Given the description of an element on the screen output the (x, y) to click on. 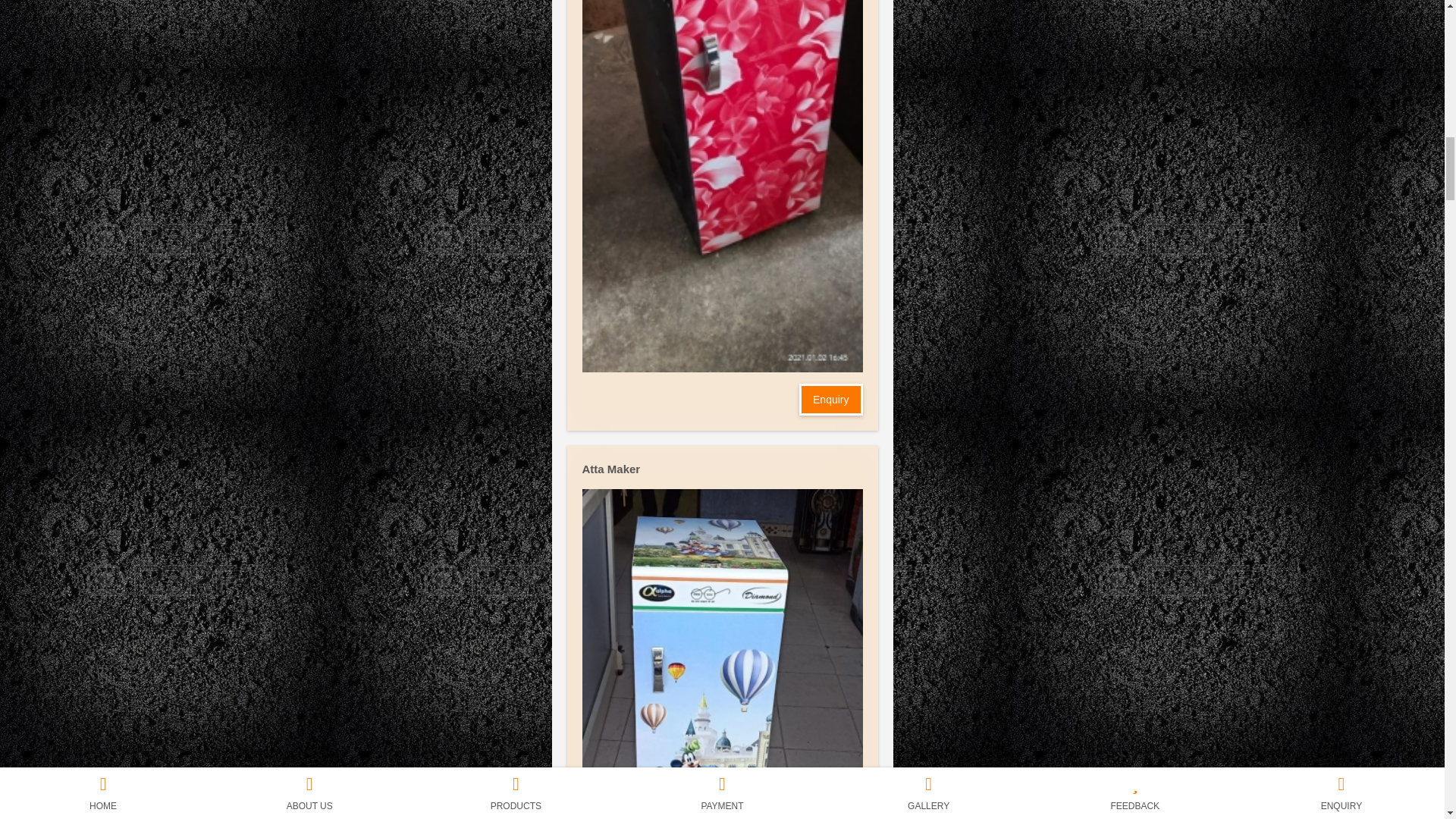
Enquiry (830, 399)
